Given the description of an element on the screen output the (x, y) to click on. 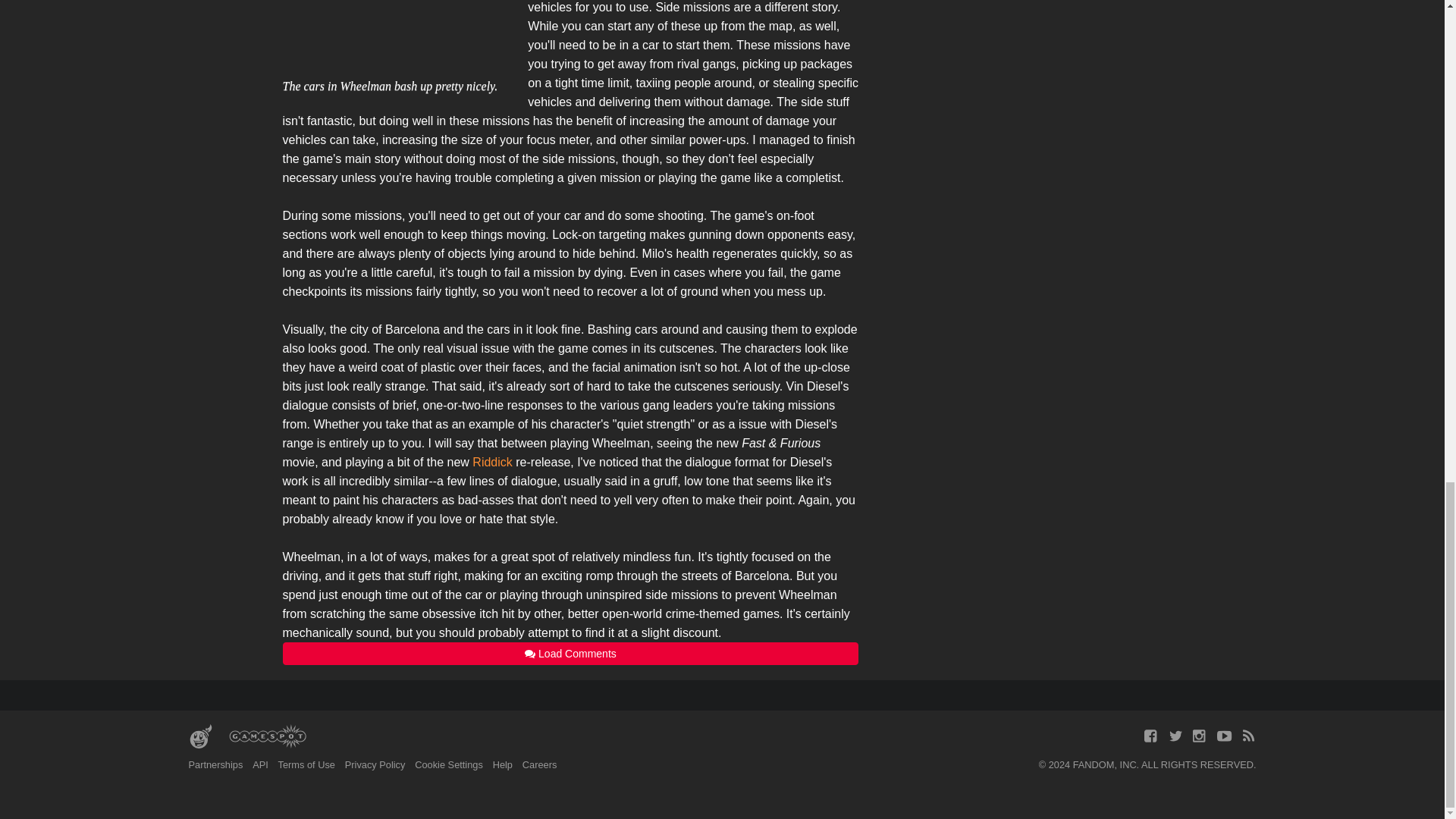
Giant Bomb (199, 736)
GameSpot (266, 736)
RSS (1248, 736)
